Given the description of an element on the screen output the (x, y) to click on. 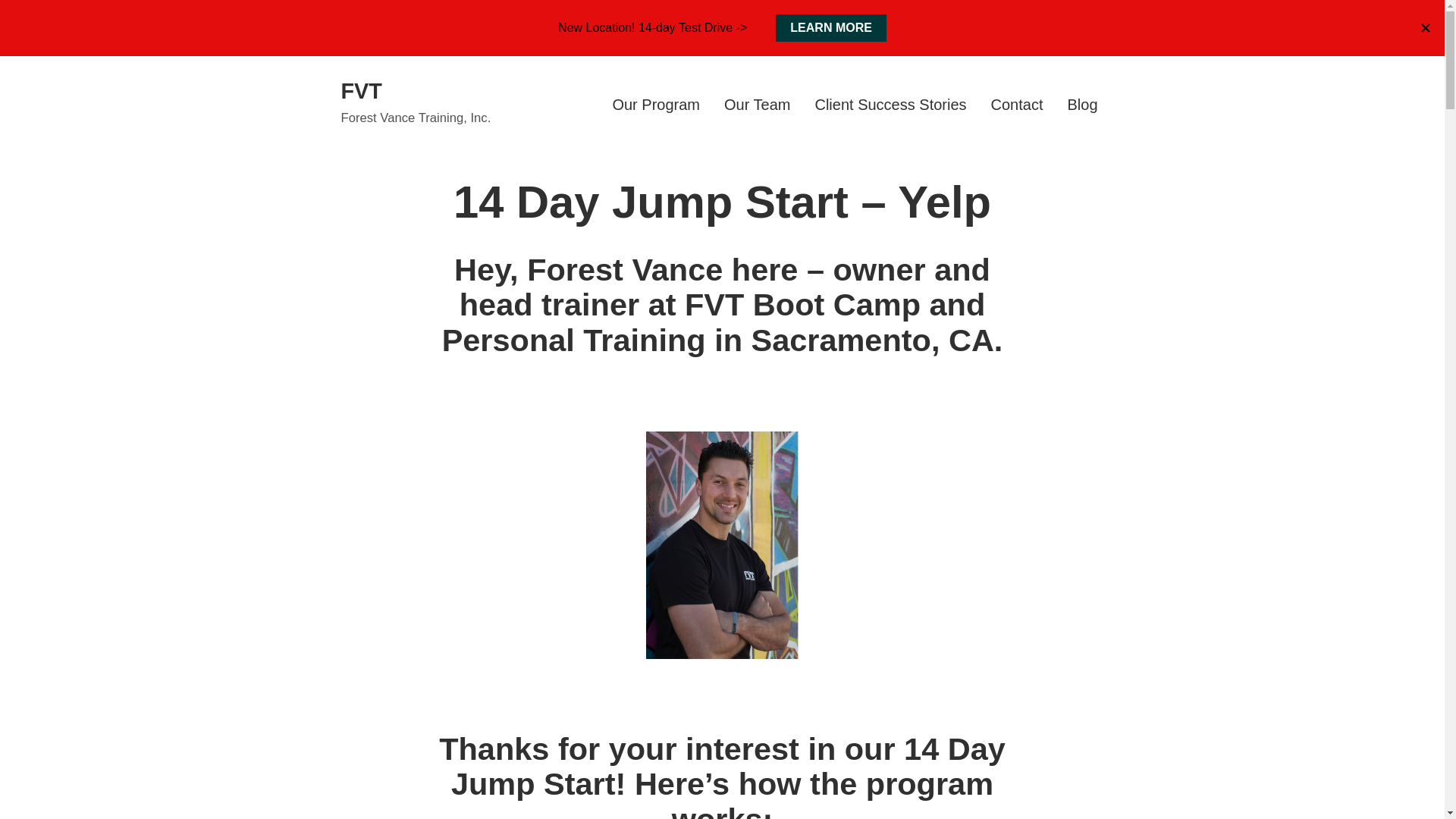
Contact (1017, 103)
FVT (360, 90)
Our Team (756, 103)
Our Program (655, 103)
Client Success Stories (889, 103)
Blog (1082, 103)
